Given the description of an element on the screen output the (x, y) to click on. 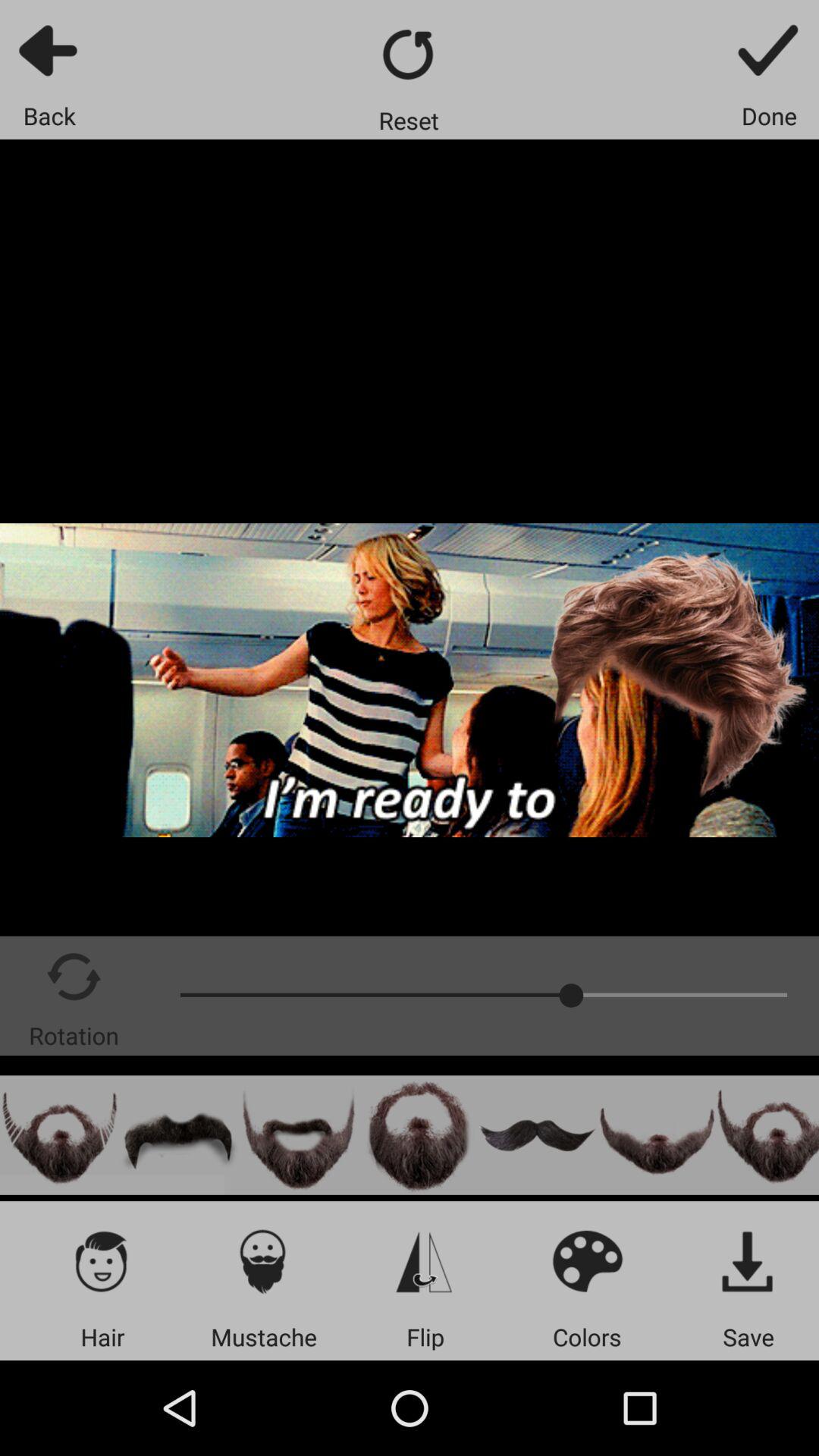
click for color options (586, 1260)
